Given the description of an element on the screen output the (x, y) to click on. 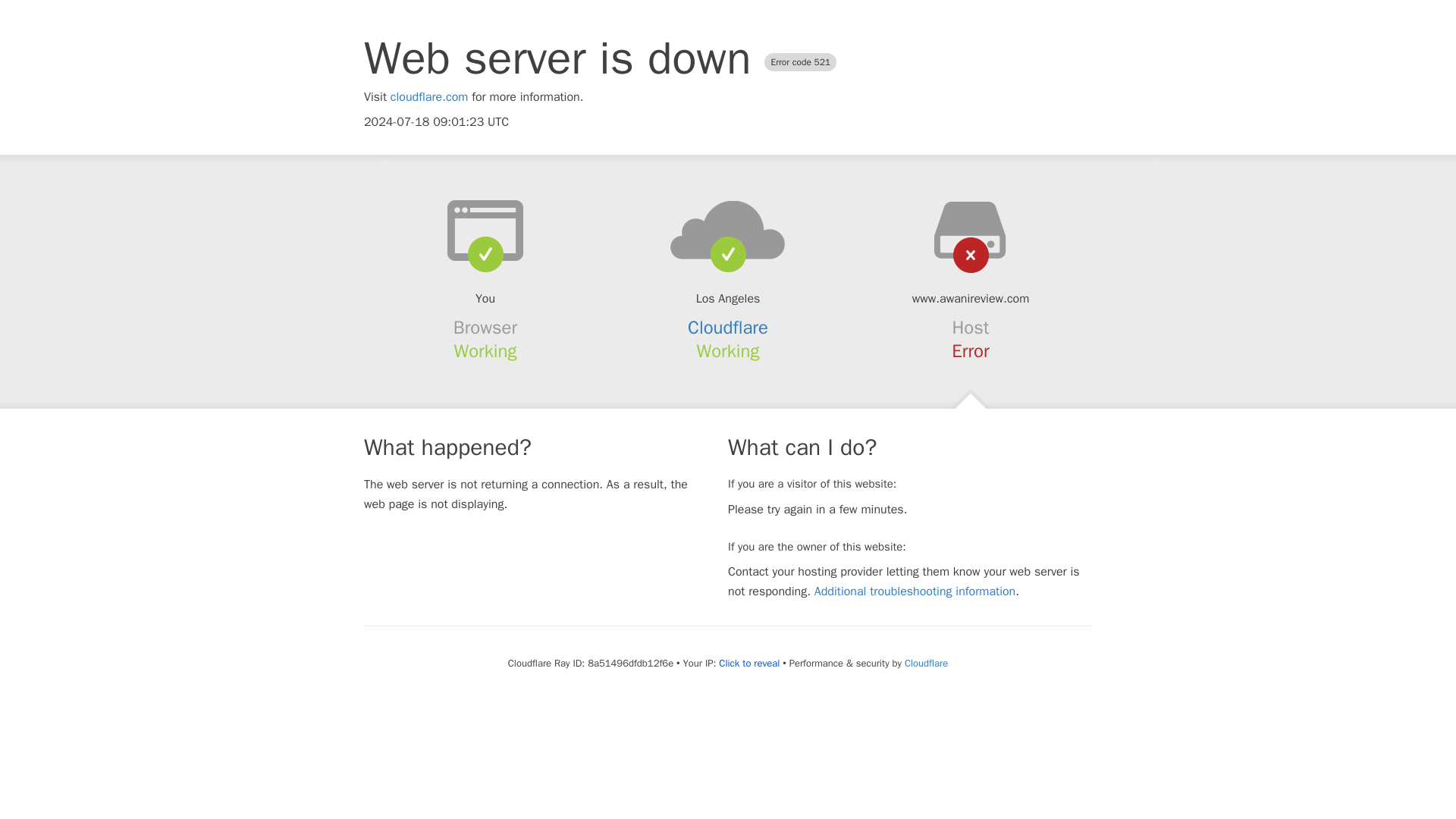
Cloudflare (925, 662)
Click to reveal (748, 663)
cloudflare.com (429, 96)
Additional troubleshooting information (913, 590)
Cloudflare (727, 327)
